Given the description of an element on the screen output the (x, y) to click on. 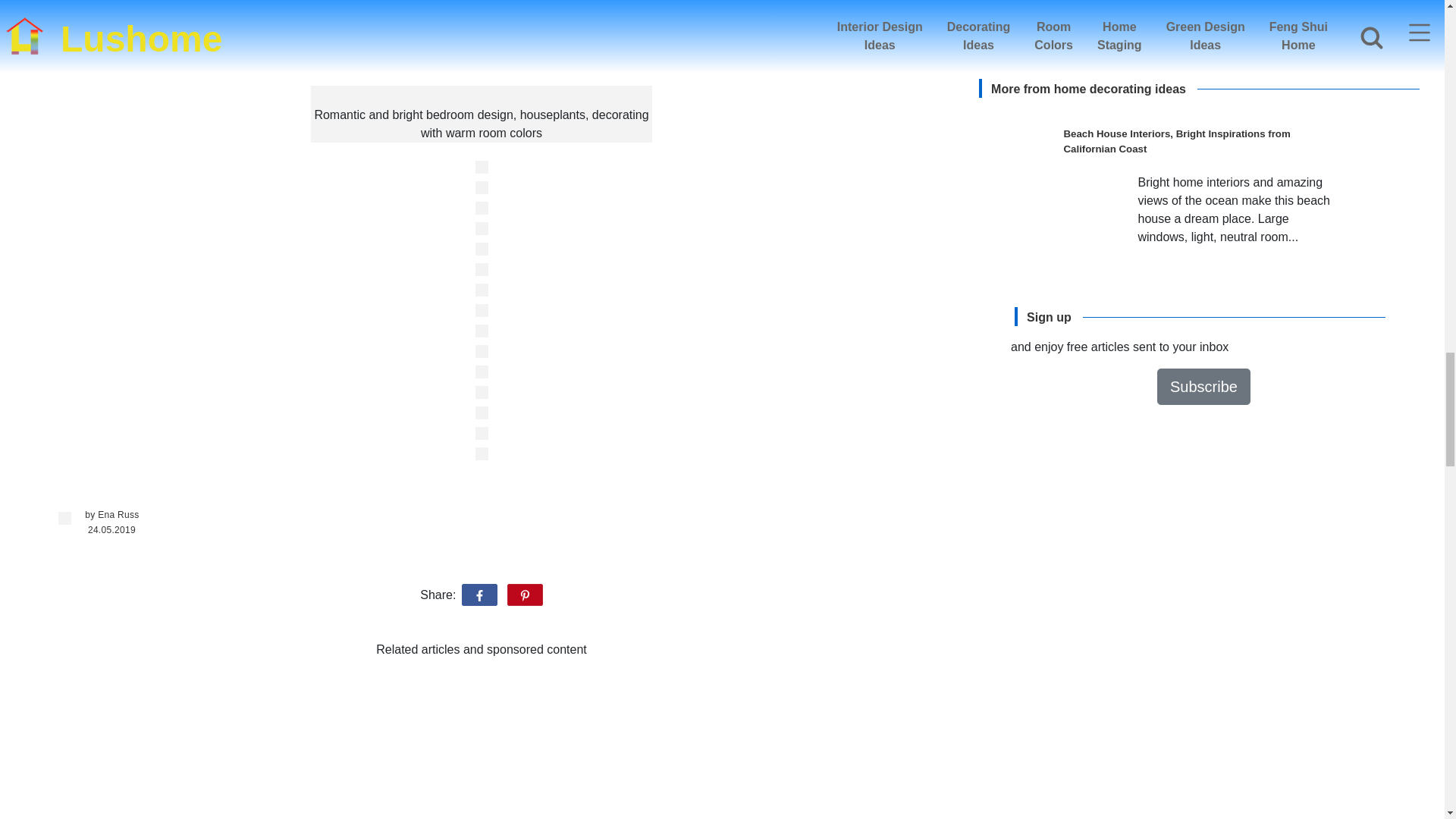
Advertisement (481, 744)
